Given the description of an element on the screen output the (x, y) to click on. 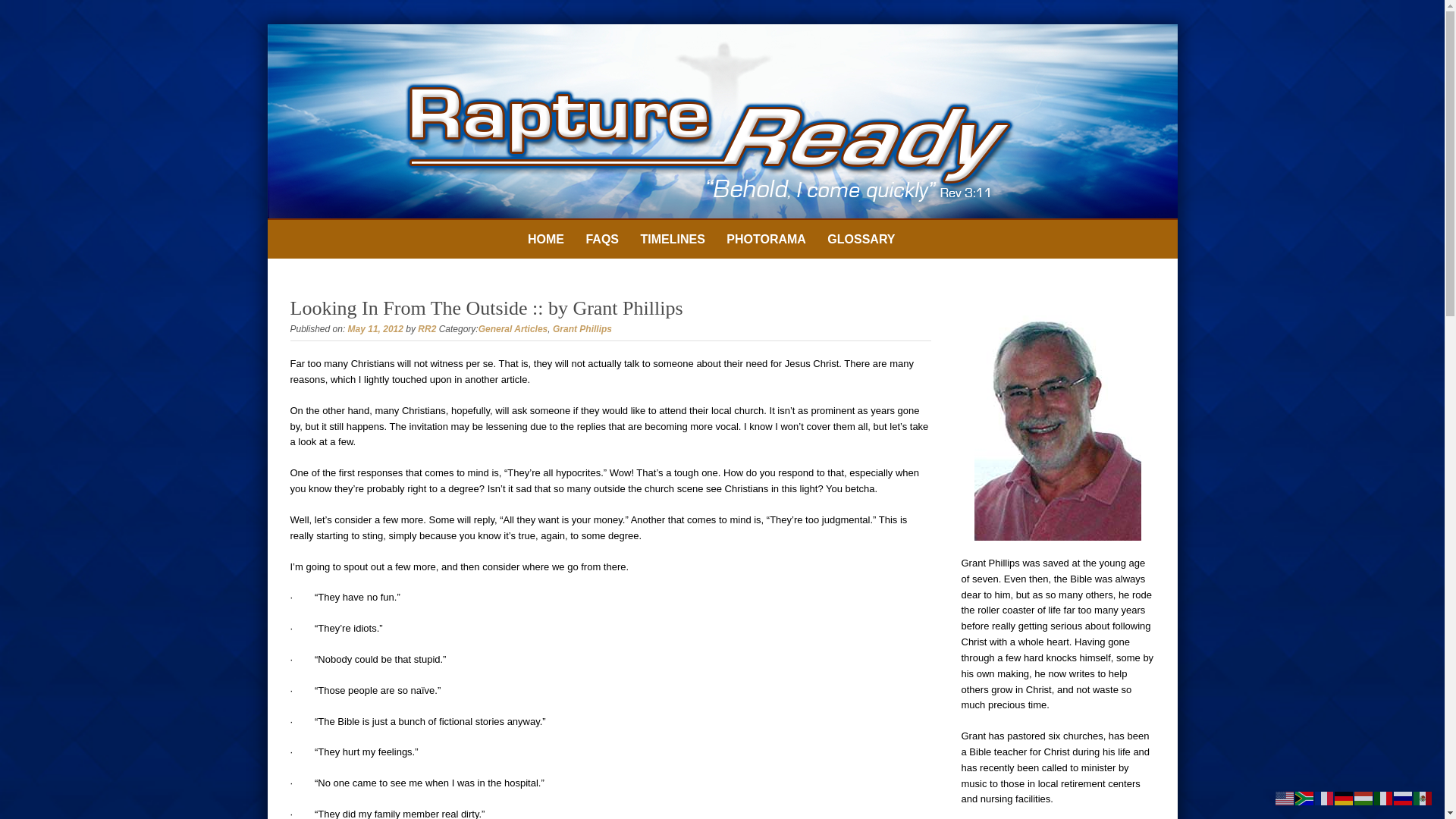
HOME (545, 239)
General Articles (513, 328)
TIMELINES (671, 239)
May 11, 2012 (375, 328)
Grant Phillips (582, 328)
PHOTORAMA (766, 239)
FAQS (601, 239)
GLOSSARY (861, 239)
RR2 (426, 328)
